Given the description of an element on the screen output the (x, y) to click on. 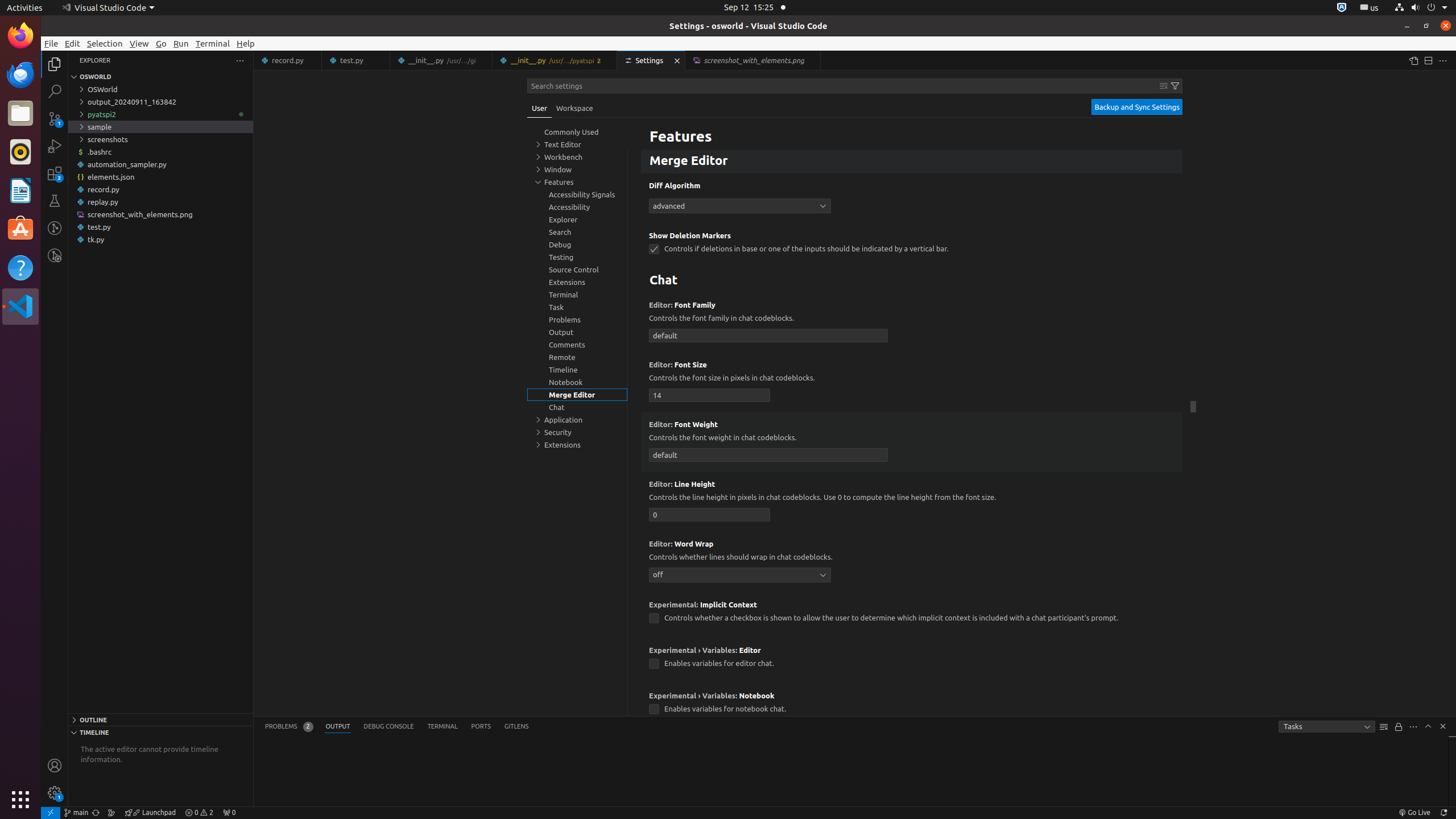
screenshot_with_elements.png Element type: tree-item (160, 214)
record.py Element type: page-tab (287, 60)
Search (Ctrl+Shift+F) Element type: page-tab (54, 91)
chat.experimental.variables.editor Element type: check-box (653, 663)
